Given the description of an element on the screen output the (x, y) to click on. 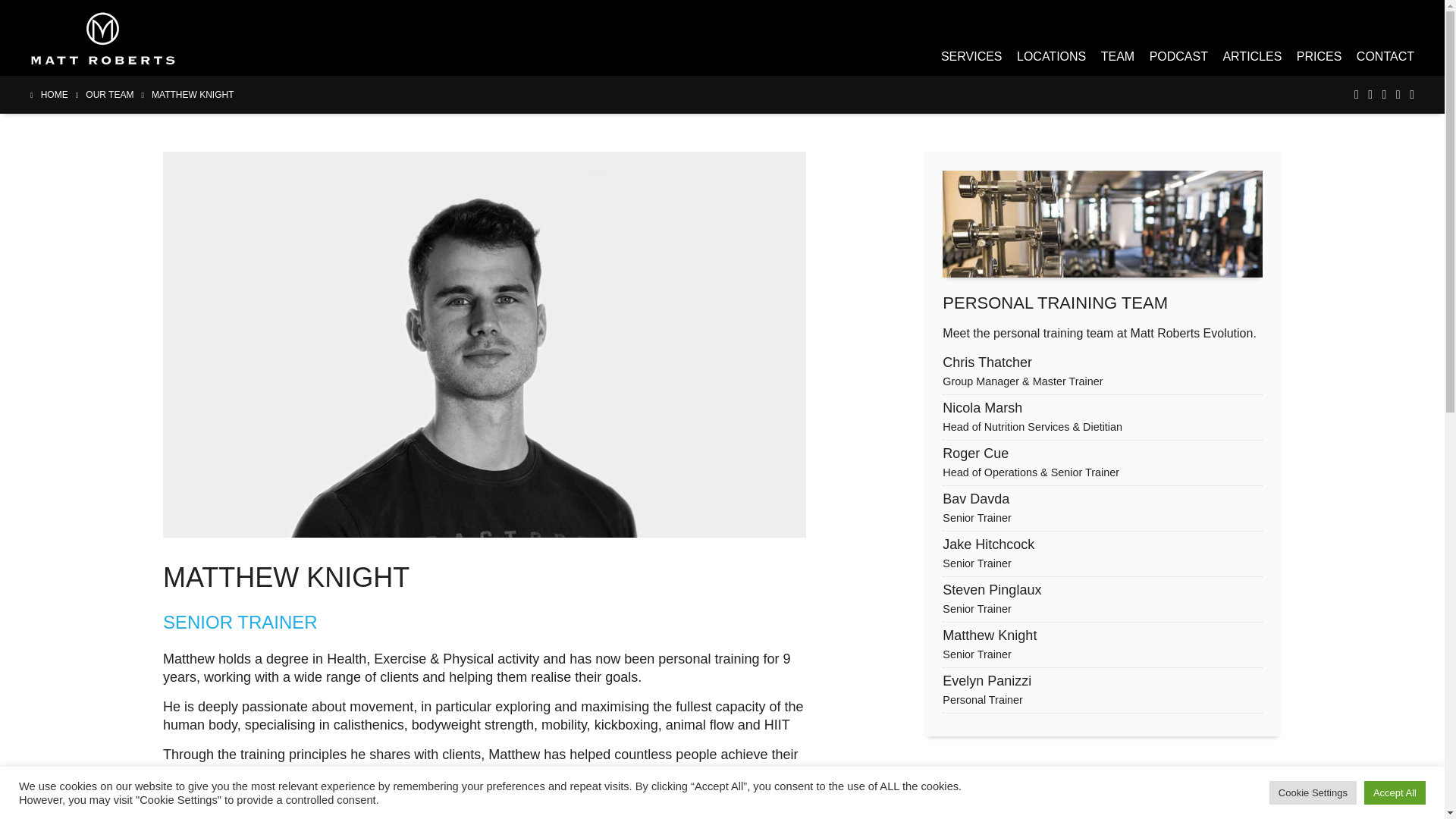
TEAM (1117, 56)
SERVICES (971, 56)
LOCATIONS (1102, 647)
PRICES (1051, 56)
ARTICLES (1319, 56)
MATTHEW KNIGHT (1252, 56)
PODCAST (191, 94)
CONTACT (1179, 56)
OUR TEAM (1102, 692)
HOME (1102, 510)
